Given the description of an element on the screen output the (x, y) to click on. 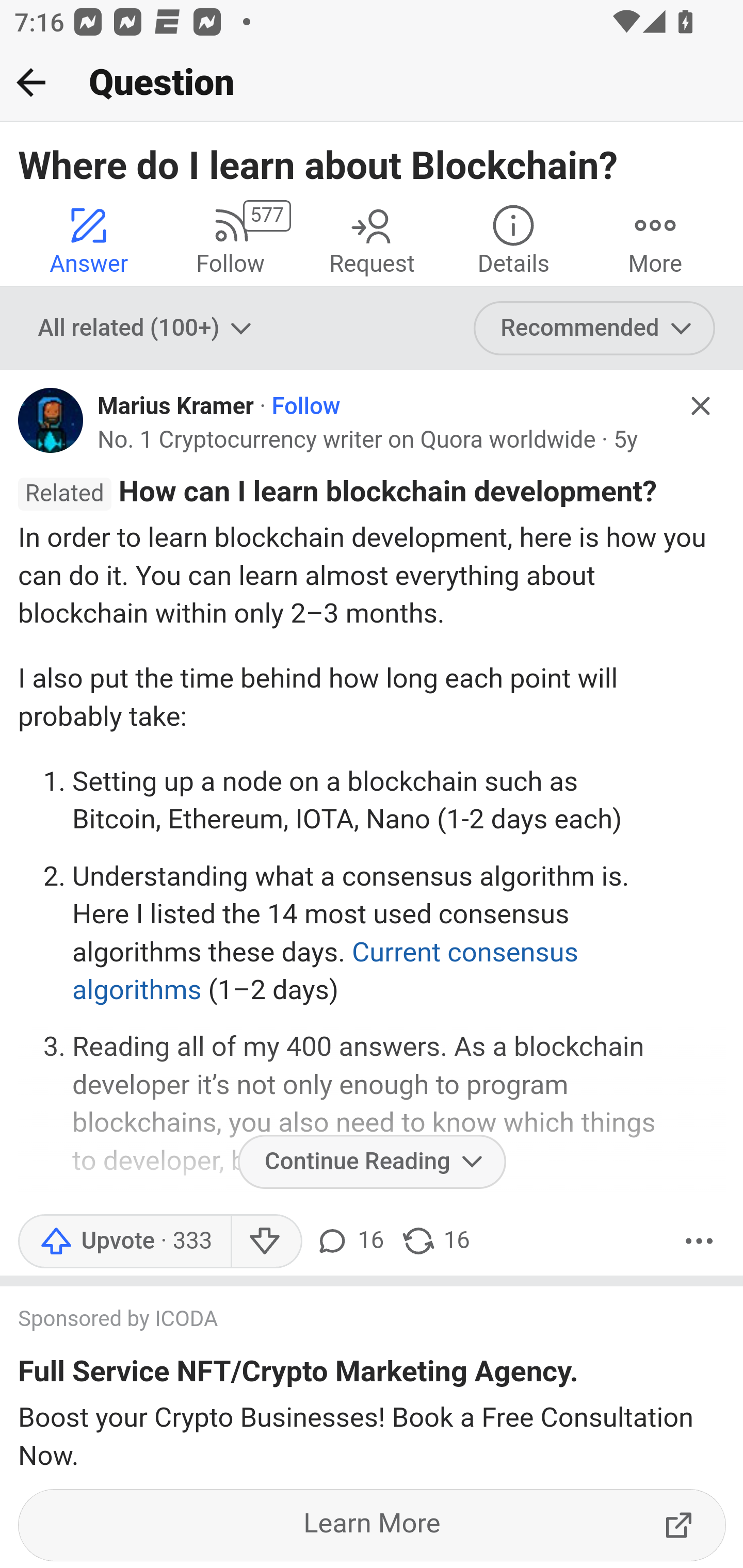
Back Question (371, 82)
Back (30, 82)
Answer (88, 239)
577 Follow (230, 239)
Request (371, 239)
Details (513, 239)
More (655, 239)
All related (100+) (146, 327)
Recommended (594, 327)
Hide (700, 405)
Profile photo for Marius Kramer (50, 420)
Marius Kramer (175, 406)
Follow (306, 406)
5y 5 y (625, 439)
Current consensus algorithms (325, 971)
Continue Reading (371, 1161)
Upvote (124, 1241)
Downvote (266, 1241)
16 comments (349, 1241)
16 shares (434, 1241)
More (699, 1241)
Sponsored by ICODA (352, 1321)
Full Service NFT/Crypto Marketing Agency. (298, 1375)
Learn More ExternalLink (372, 1524)
